Given the description of an element on the screen output the (x, y) to click on. 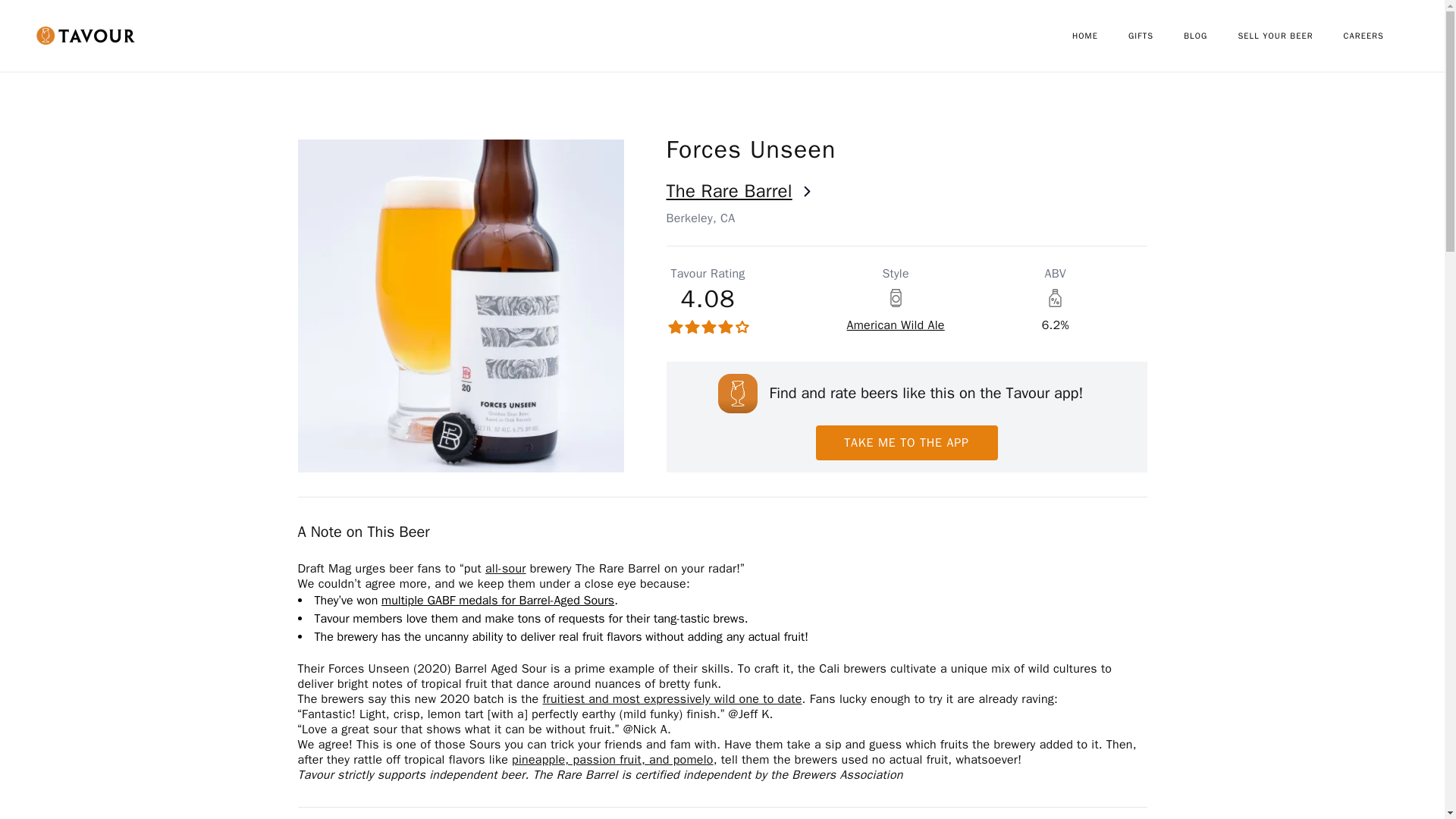
American Wild Ale (894, 325)
sell your beer (1289, 35)
TAKE ME TO THE APP (906, 442)
gifts (1155, 35)
CAREERS (1378, 35)
GIFTS (1155, 35)
The Rare Barrel (906, 191)
careers (1378, 35)
blog (1210, 35)
SELL YOUR BEER (1289, 35)
